Given the description of an element on the screen output the (x, y) to click on. 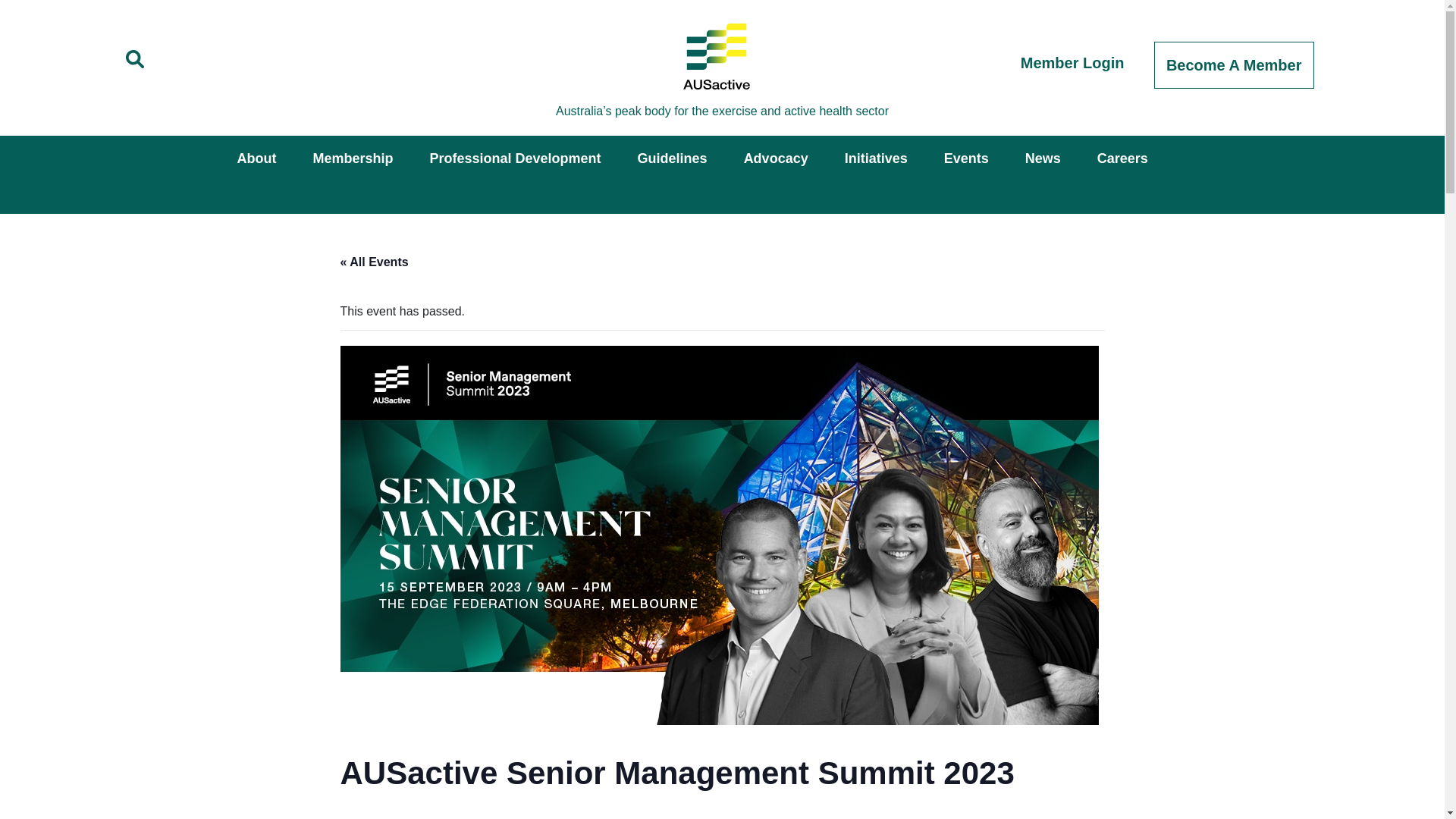
About (255, 158)
Membership (352, 158)
Guidelines (672, 158)
Member Login (1072, 62)
Professional Development (515, 158)
Become A Member (1234, 64)
